Given the description of an element on the screen output the (x, y) to click on. 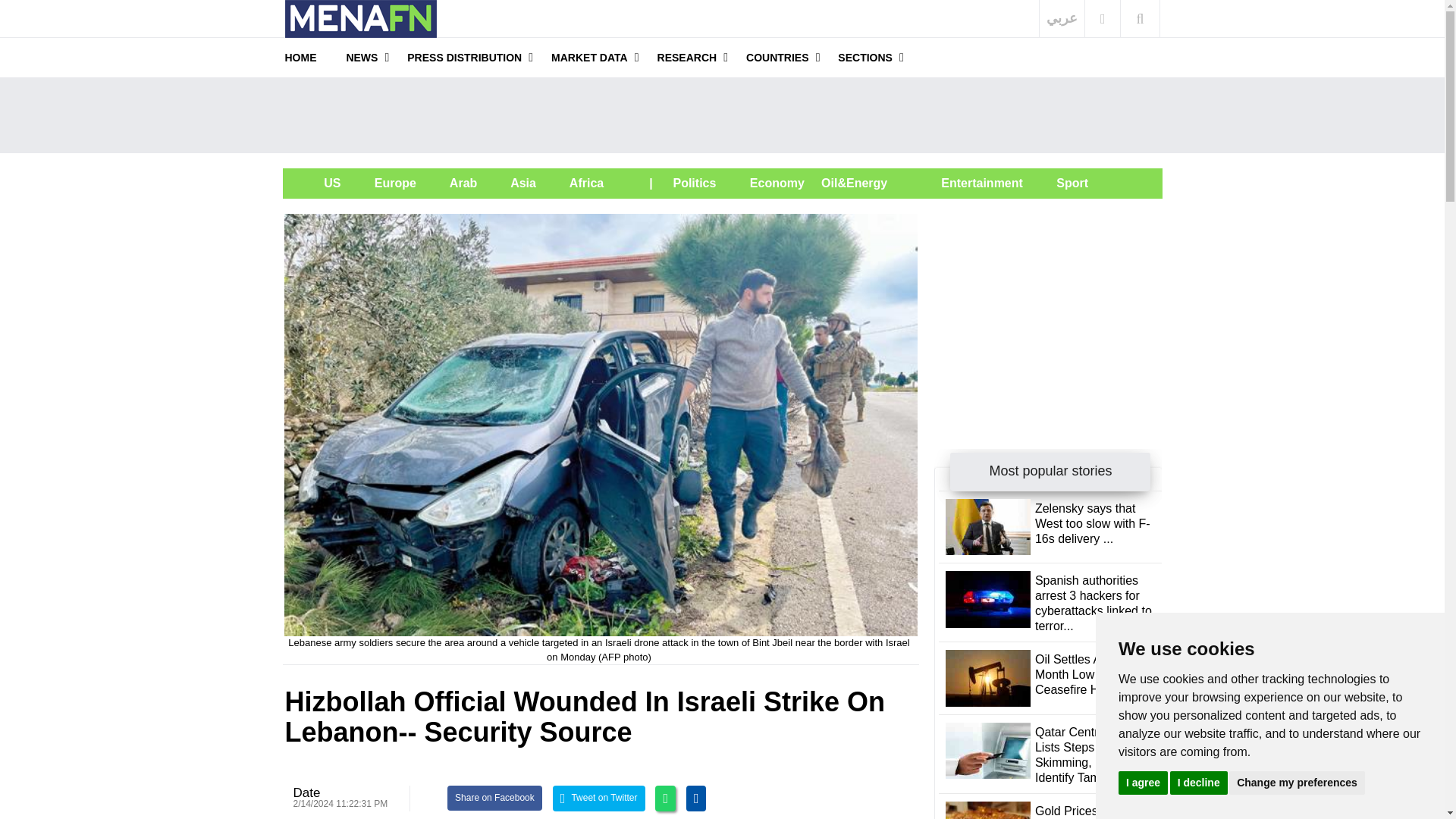
Advertisement (1047, 308)
MARKET DATA (589, 56)
Posts by NewEdge (306, 792)
I agree (1142, 781)
PRESS DISTRIBUTION (464, 56)
I decline (1198, 781)
Change my preferences (1296, 781)
